Given the description of an element on the screen output the (x, y) to click on. 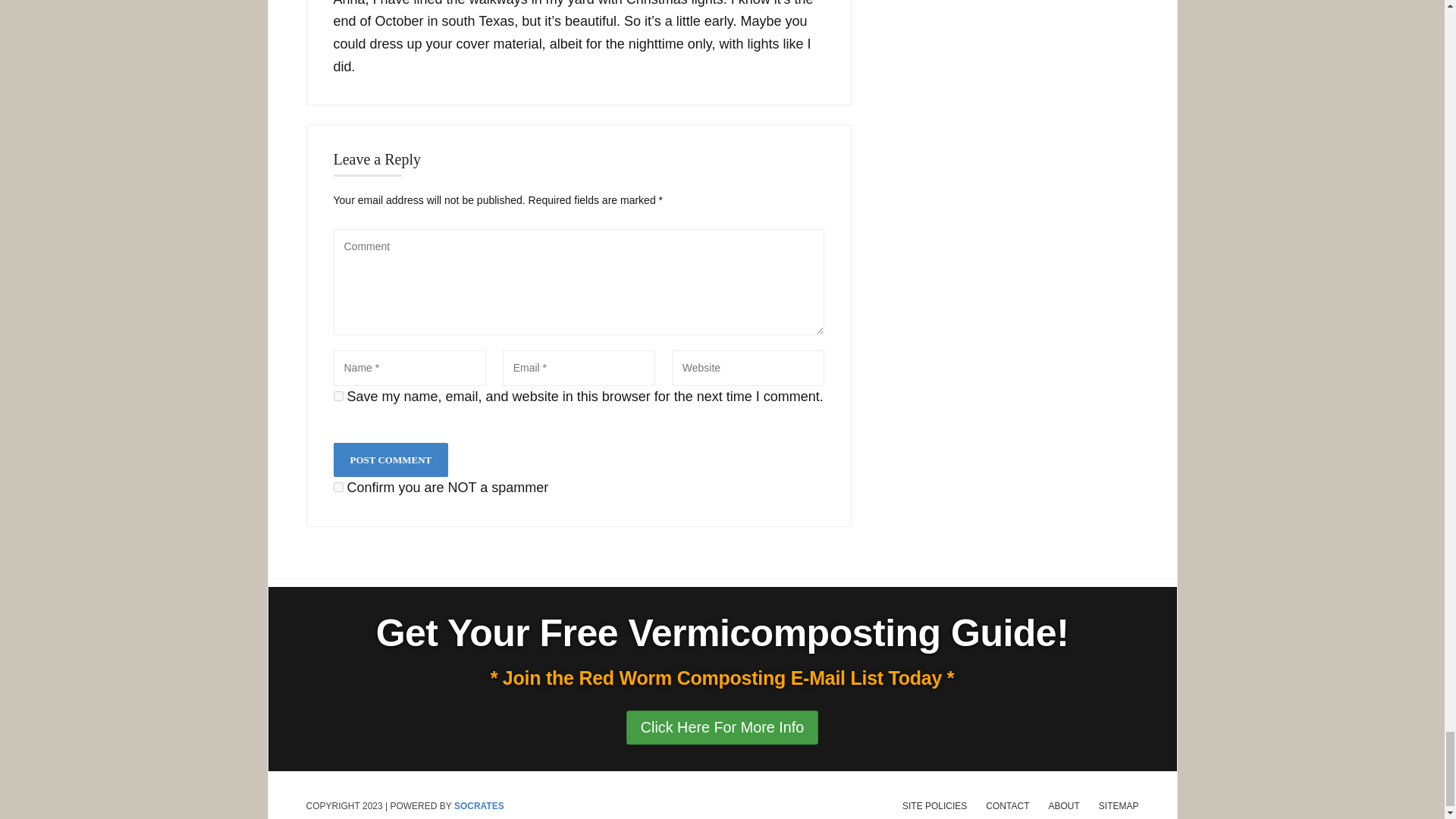
Post Comment (390, 459)
on (338, 487)
yes (338, 396)
Post Comment (390, 459)
